Given the description of an element on the screen output the (x, y) to click on. 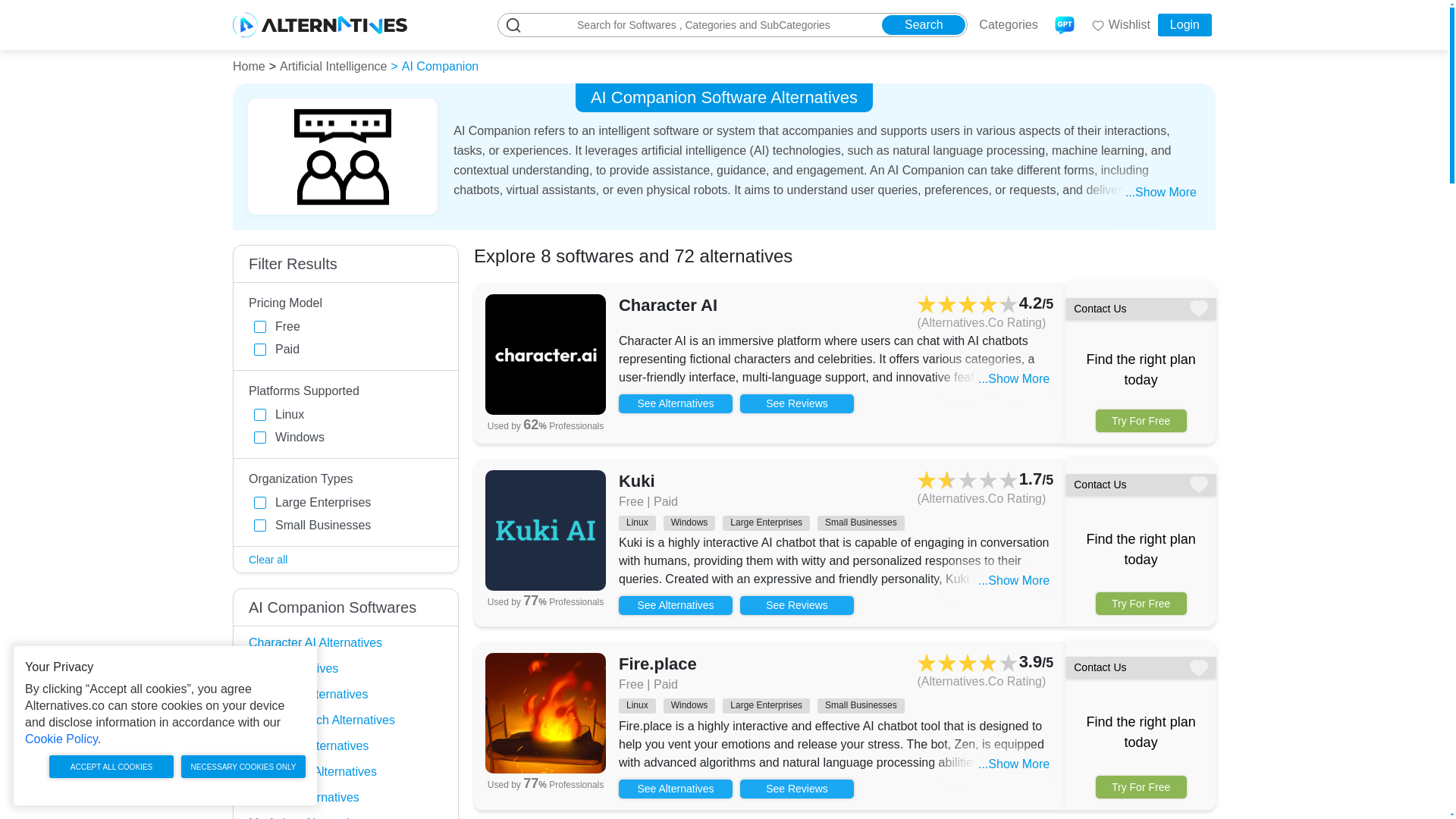
See kuki Reviews (796, 605)
Try For Free (1141, 603)
Search (923, 25)
Categories (1003, 24)
See fire place Reviews (796, 788)
Kuki Alternatives (292, 667)
Character AI Alternatives (314, 642)
All Categories (1003, 24)
Artificial Intelligence (333, 65)
See character ai Alternatives (675, 403)
